Given the description of an element on the screen output the (x, y) to click on. 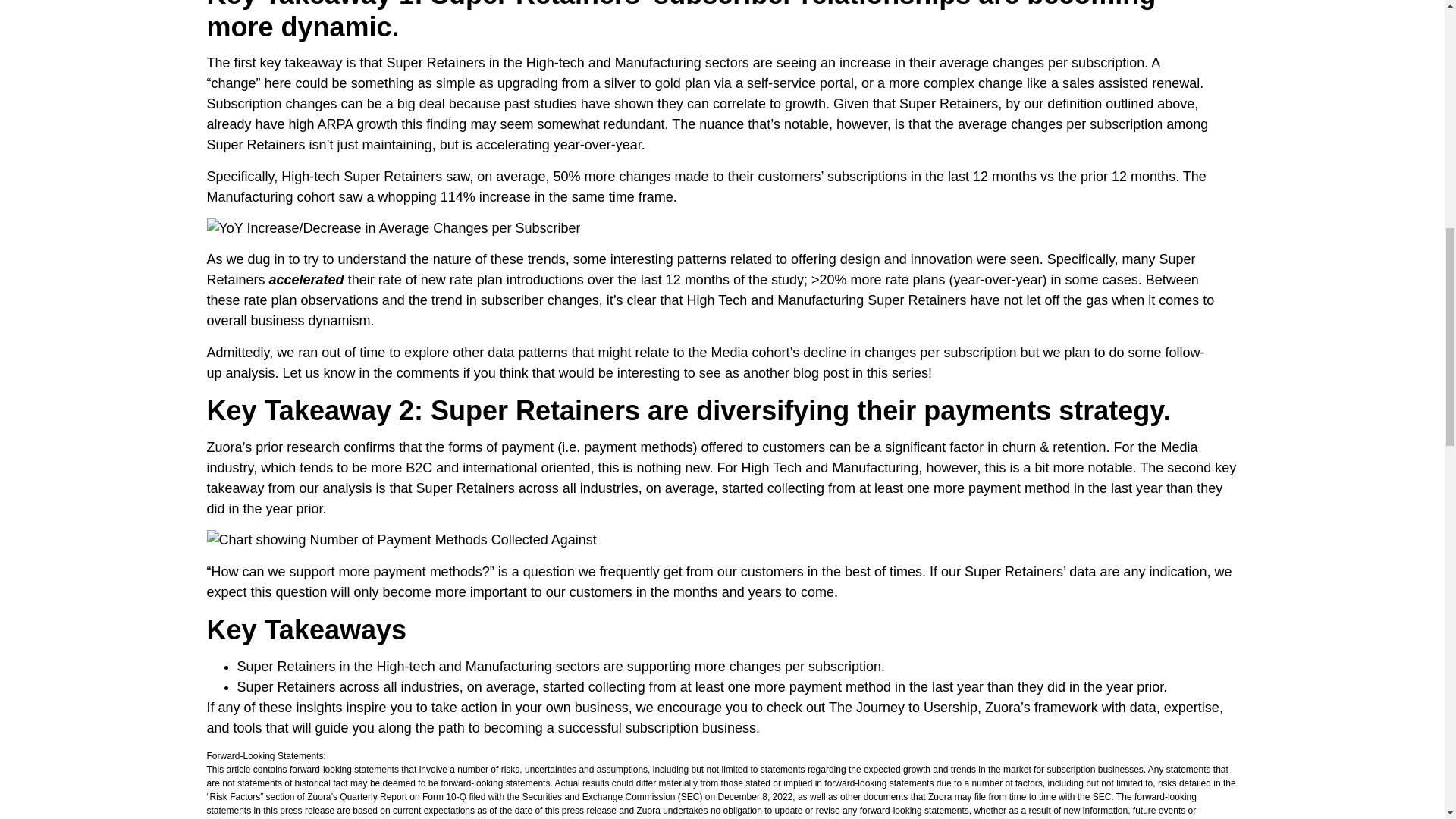
The Journey to Usership (902, 707)
 past studies (538, 103)
